Given the description of an element on the screen output the (x, y) to click on. 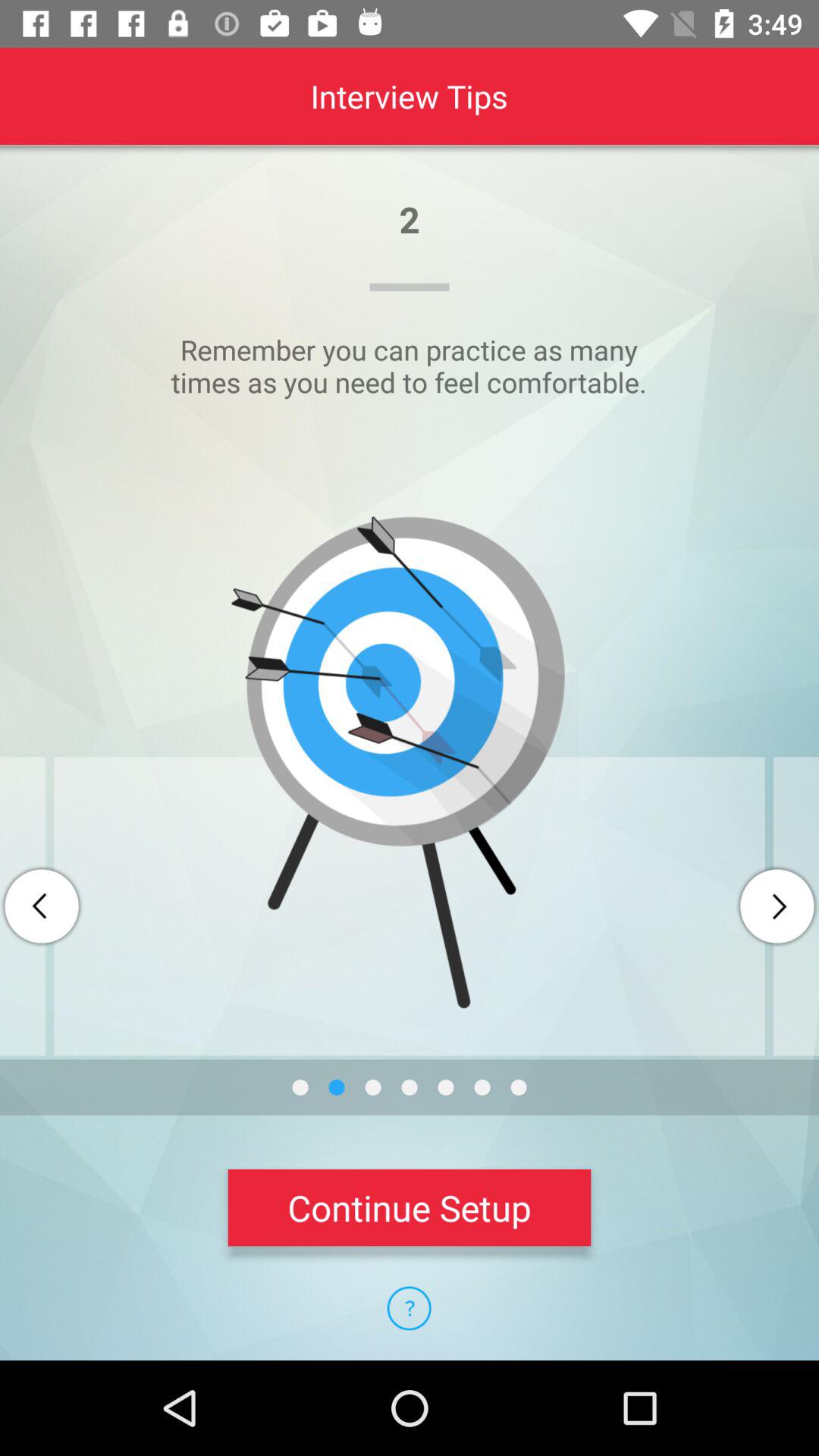
go back (41, 906)
